Given the description of an element on the screen output the (x, y) to click on. 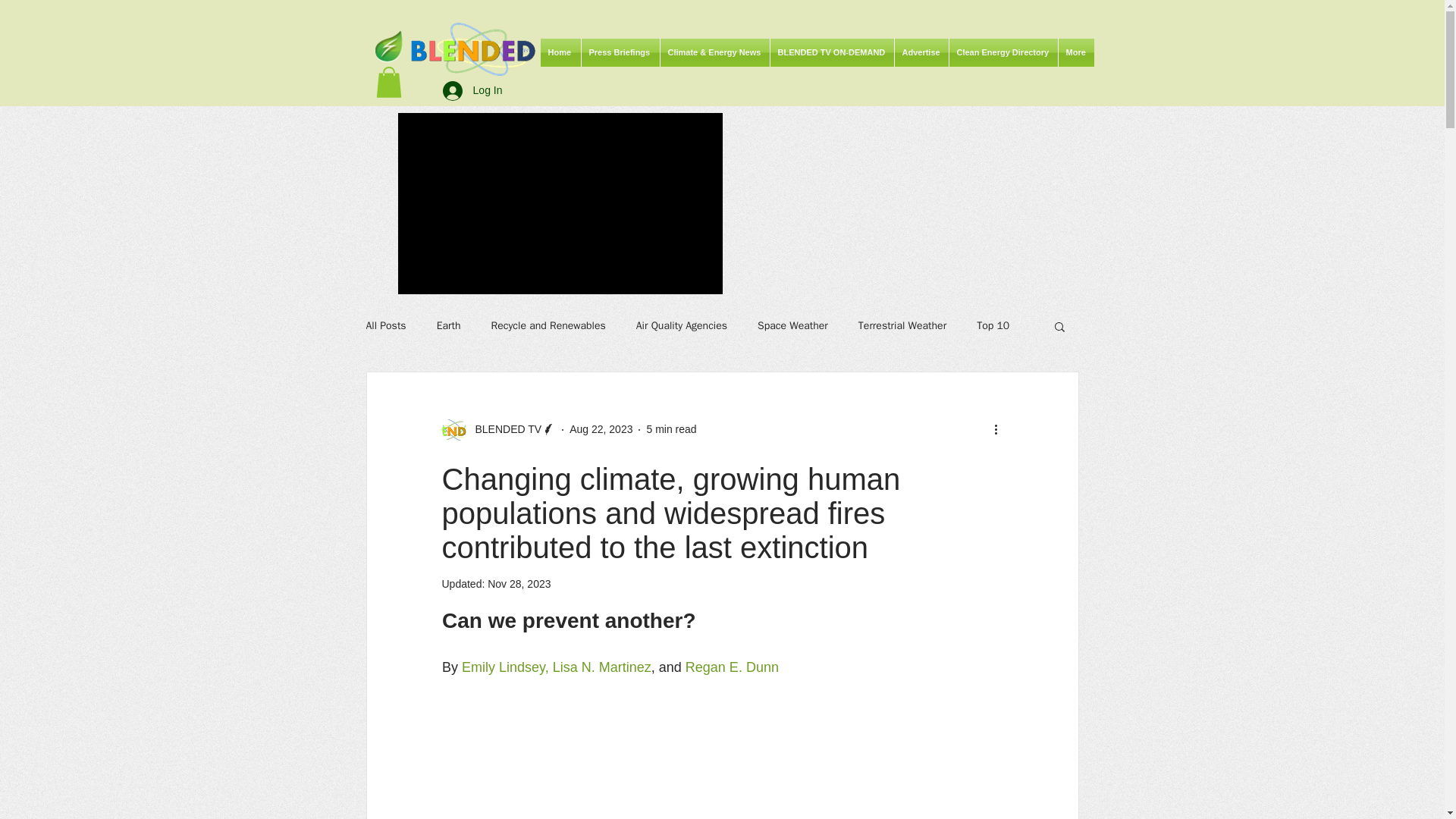
Nov 28, 2023 (518, 583)
Emily Lindsey,  (507, 667)
Air Quality Agencies (681, 325)
BLENDED TV ON-DEMAND (831, 52)
Press Briefings (619, 52)
Log In (472, 90)
5 min read (670, 428)
Home (559, 52)
BLENDED TV (498, 429)
Space Weather (792, 325)
All Posts (385, 325)
Terrestrial Weather (902, 325)
Aug 22, 2023 (600, 428)
Top 10 (992, 325)
